Given the description of an element on the screen output the (x, y) to click on. 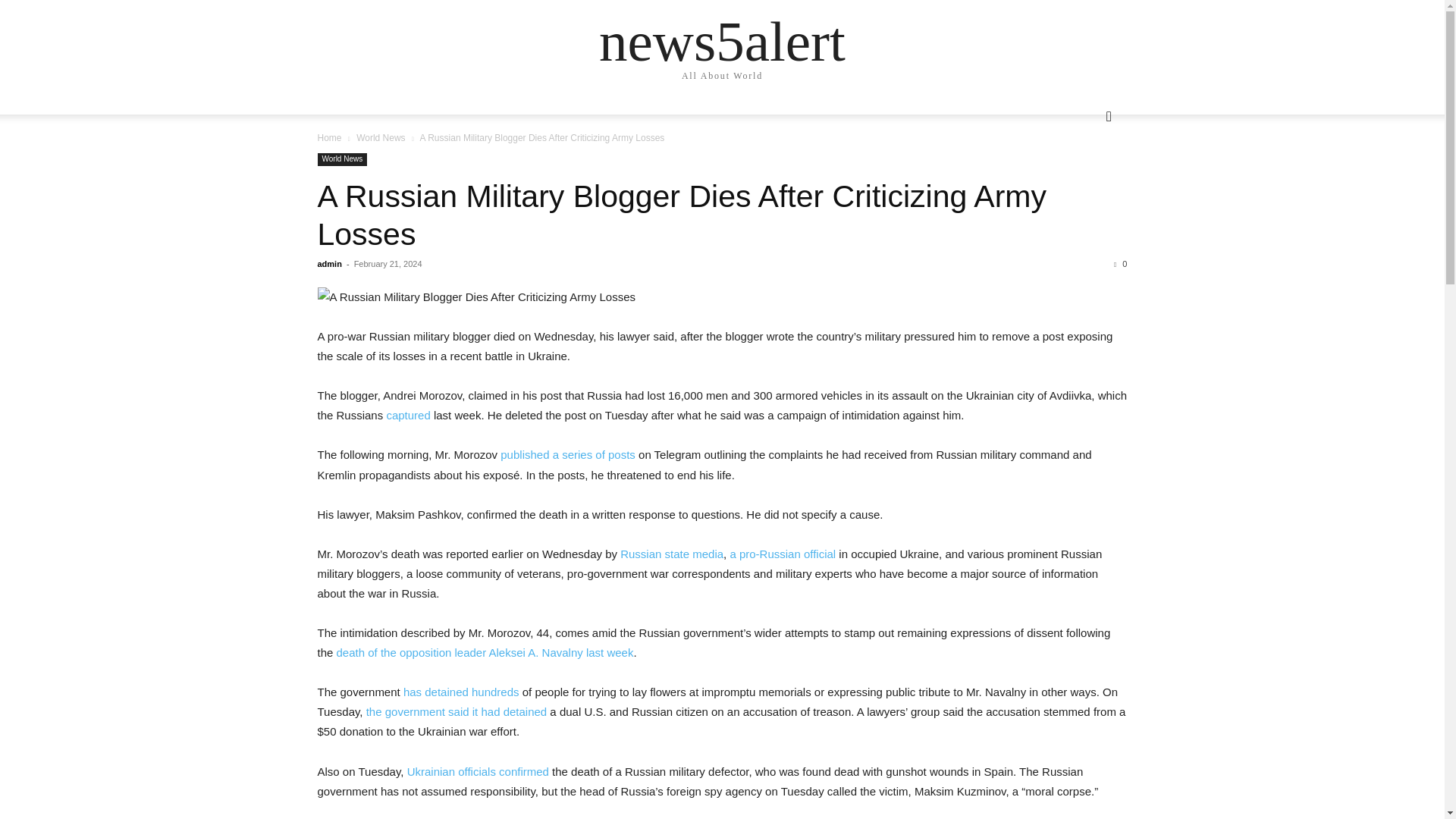
admin (328, 263)
has detained hundreds (461, 691)
World News (380, 137)
media (708, 553)
death of the opposition leader Aleksei A. Navalny last week (484, 652)
Search (1085, 177)
0 (1119, 263)
Home (328, 137)
